Given the description of an element on the screen output the (x, y) to click on. 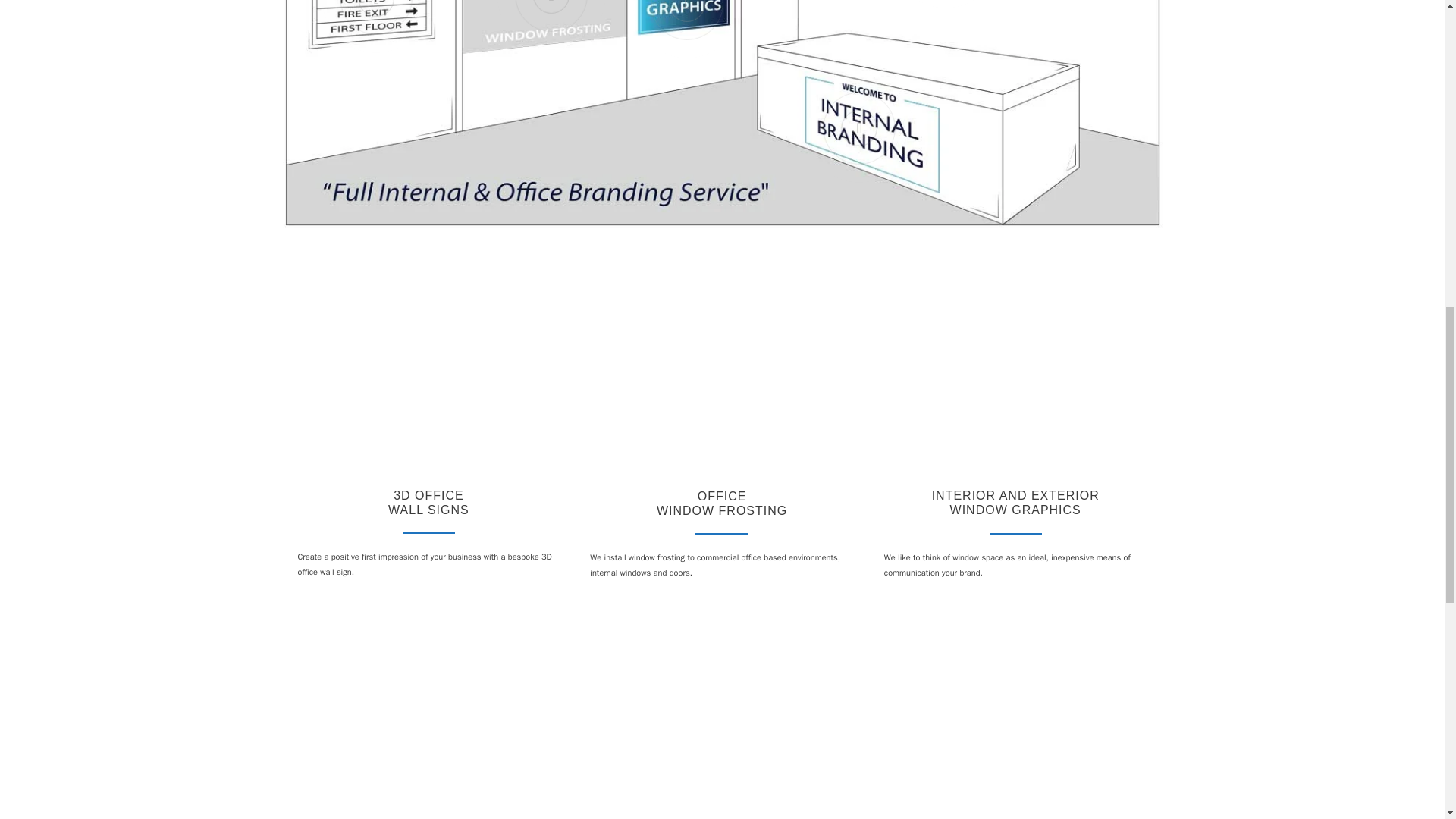
Wayfinding And Directional Signs (868, 716)
Internal Business Office Branding (575, 716)
Privacy Film Frosting London (721, 377)
Wall Logo Hertfordshire (428, 377)
